Given the description of an element on the screen output the (x, y) to click on. 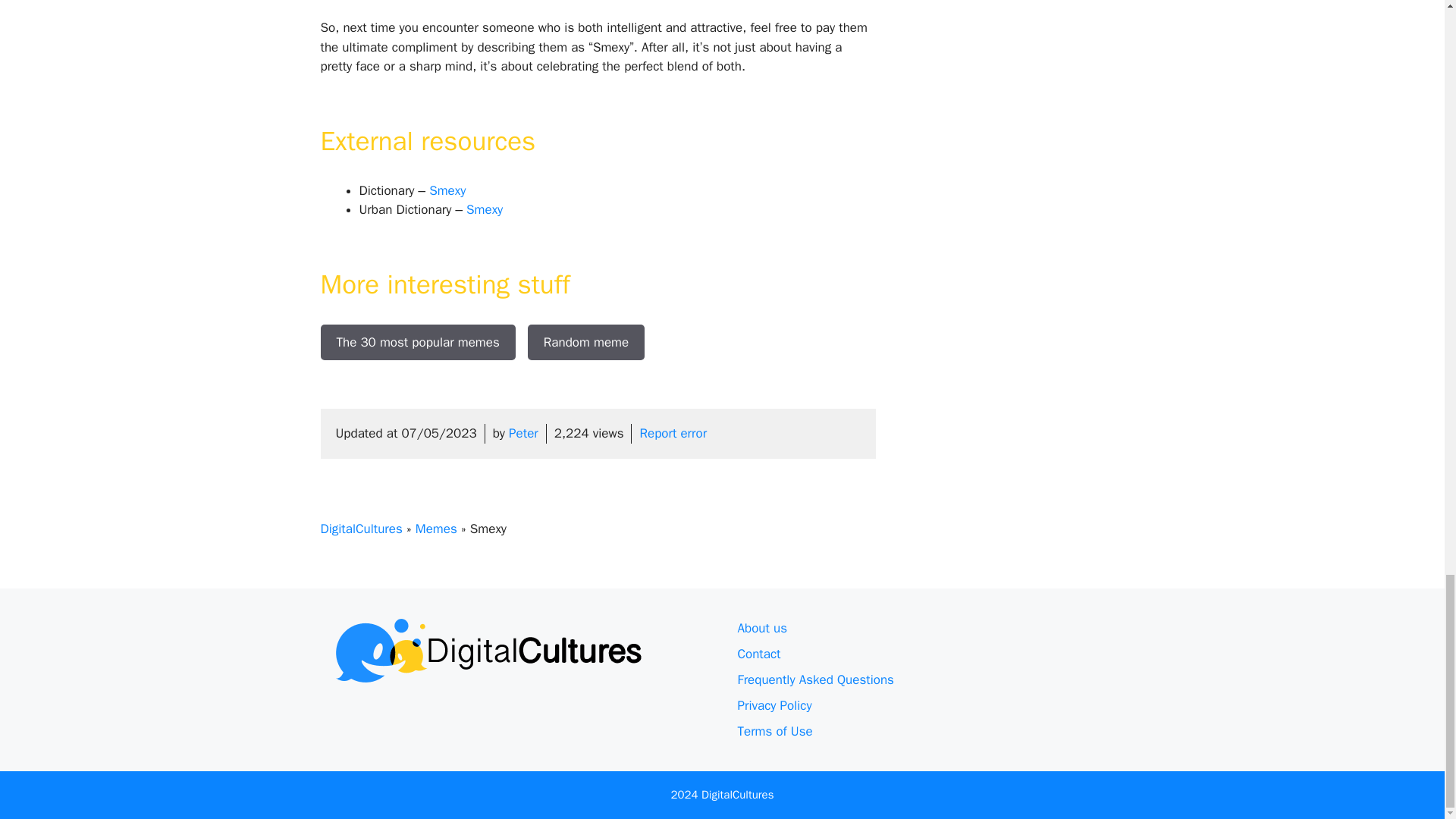
Report error (672, 433)
Smexy (483, 209)
Memes (435, 528)
The 30 most popular memes (417, 342)
DigitalCultures (360, 528)
Random meme (586, 342)
Smexy (447, 190)
Peter (523, 433)
